Given the description of an element on the screen output the (x, y) to click on. 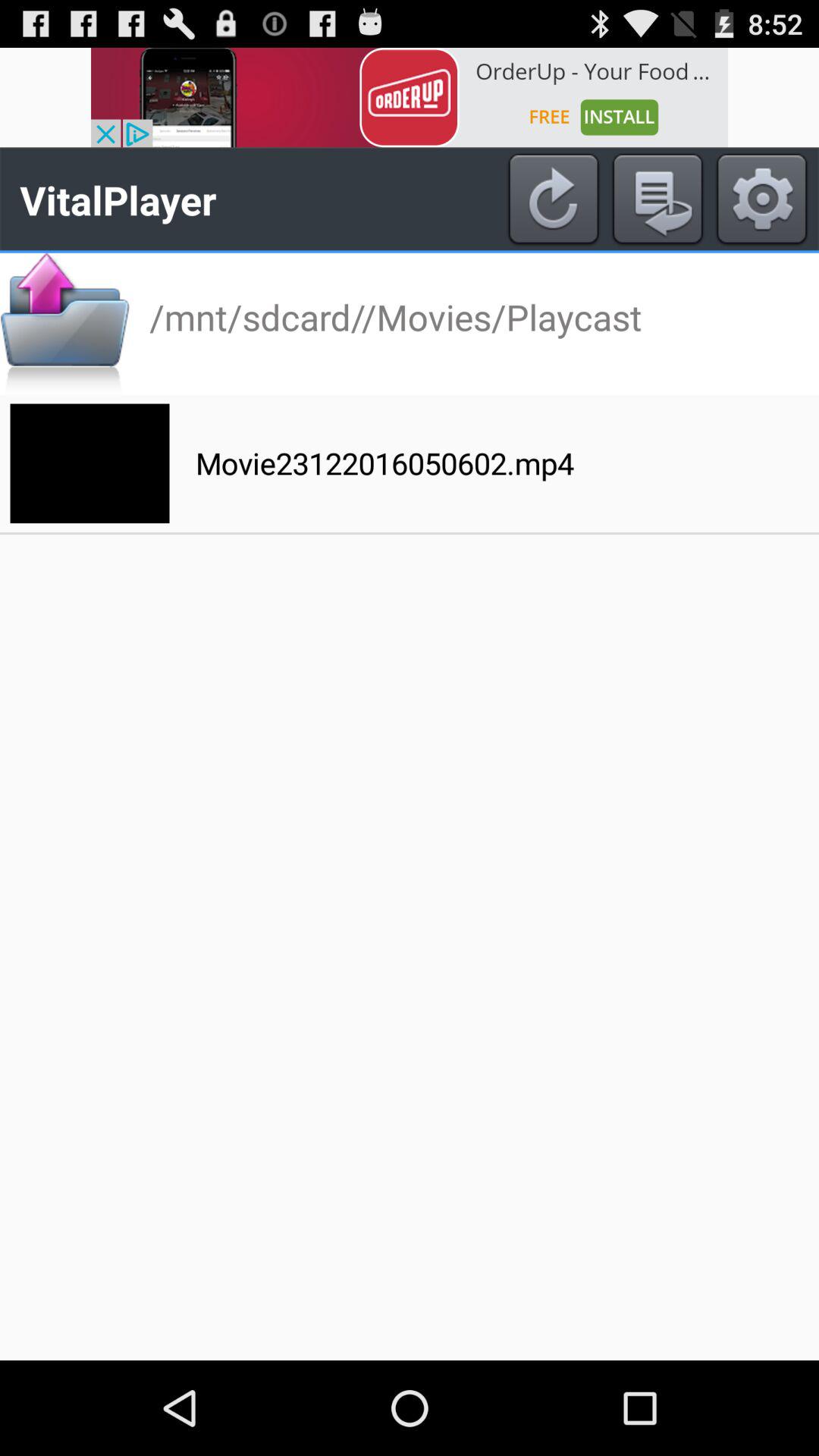
advertisement (409, 97)
